Given the description of an element on the screen output the (x, y) to click on. 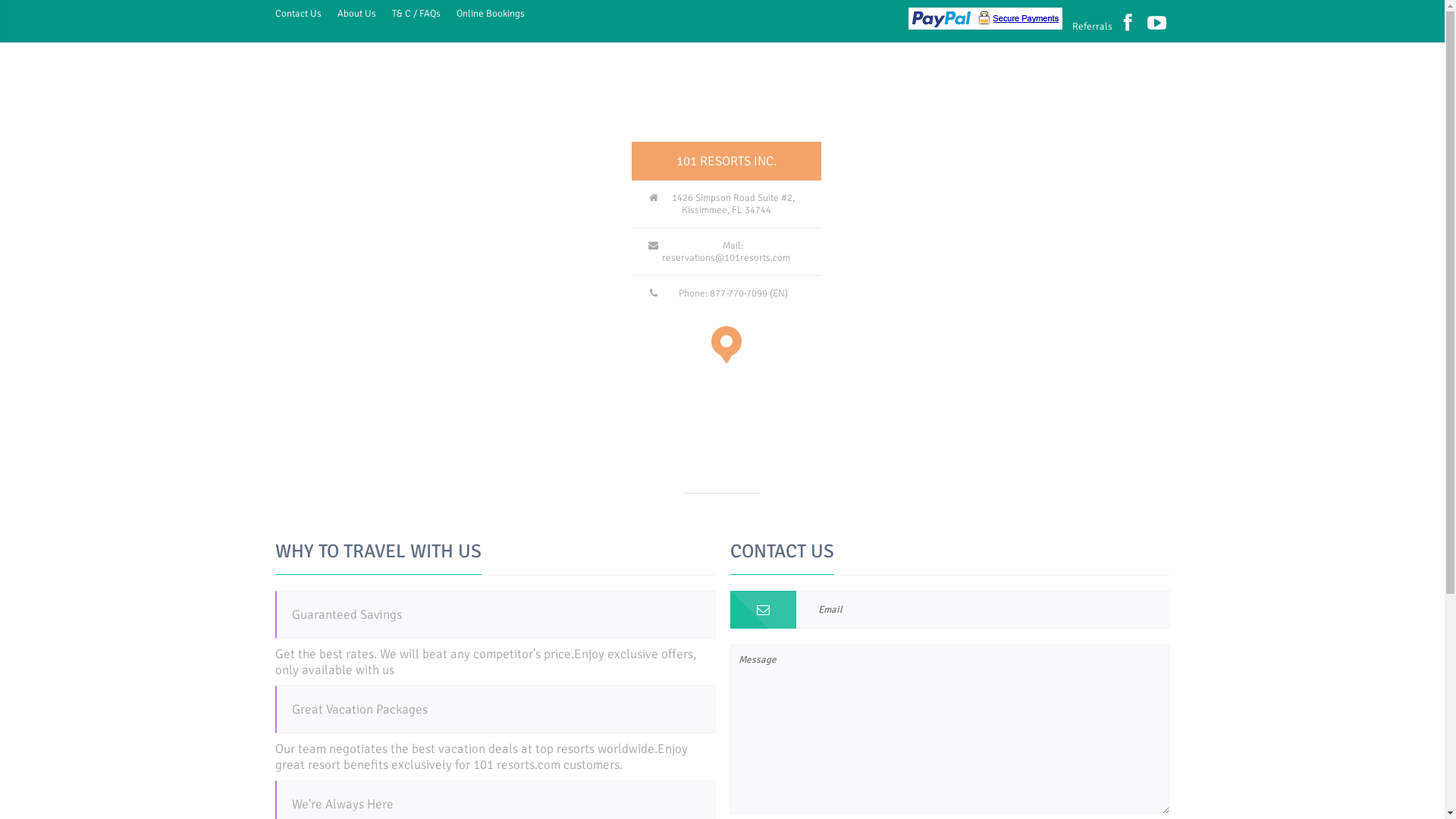
Search Element type: text (32, 14)
Contact Us Element type: text (297, 13)
T& C / FAQs Element type: text (415, 13)
Referrals Element type: text (1092, 26)
About Us Element type: text (355, 13)
Online Bookings Element type: text (490, 13)
